Given the description of an element on the screen output the (x, y) to click on. 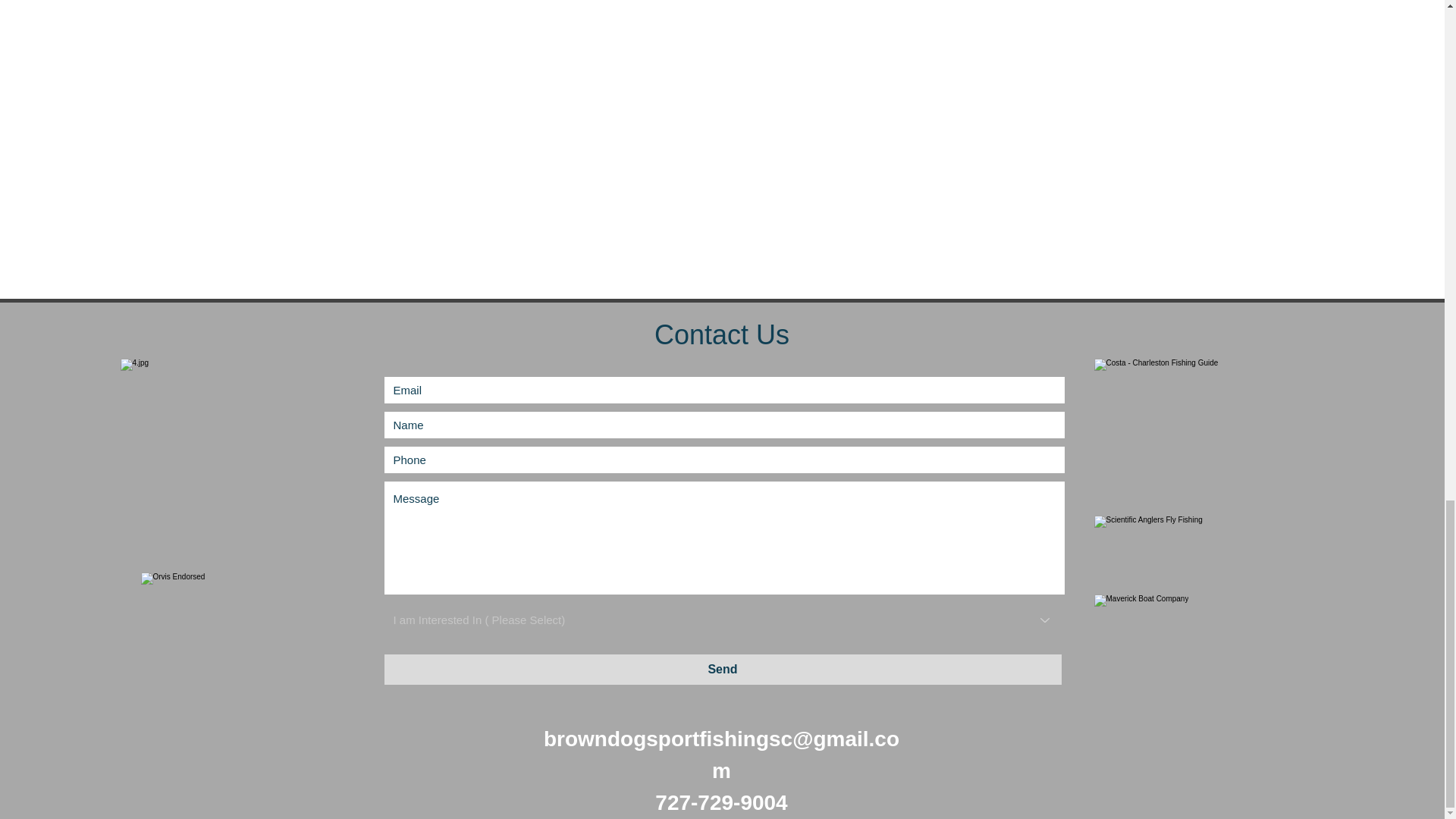
Send (722, 669)
maverick.jpg (1203, 631)
Scientific-Anglers.png (1185, 549)
